Given the description of an element on the screen output the (x, y) to click on. 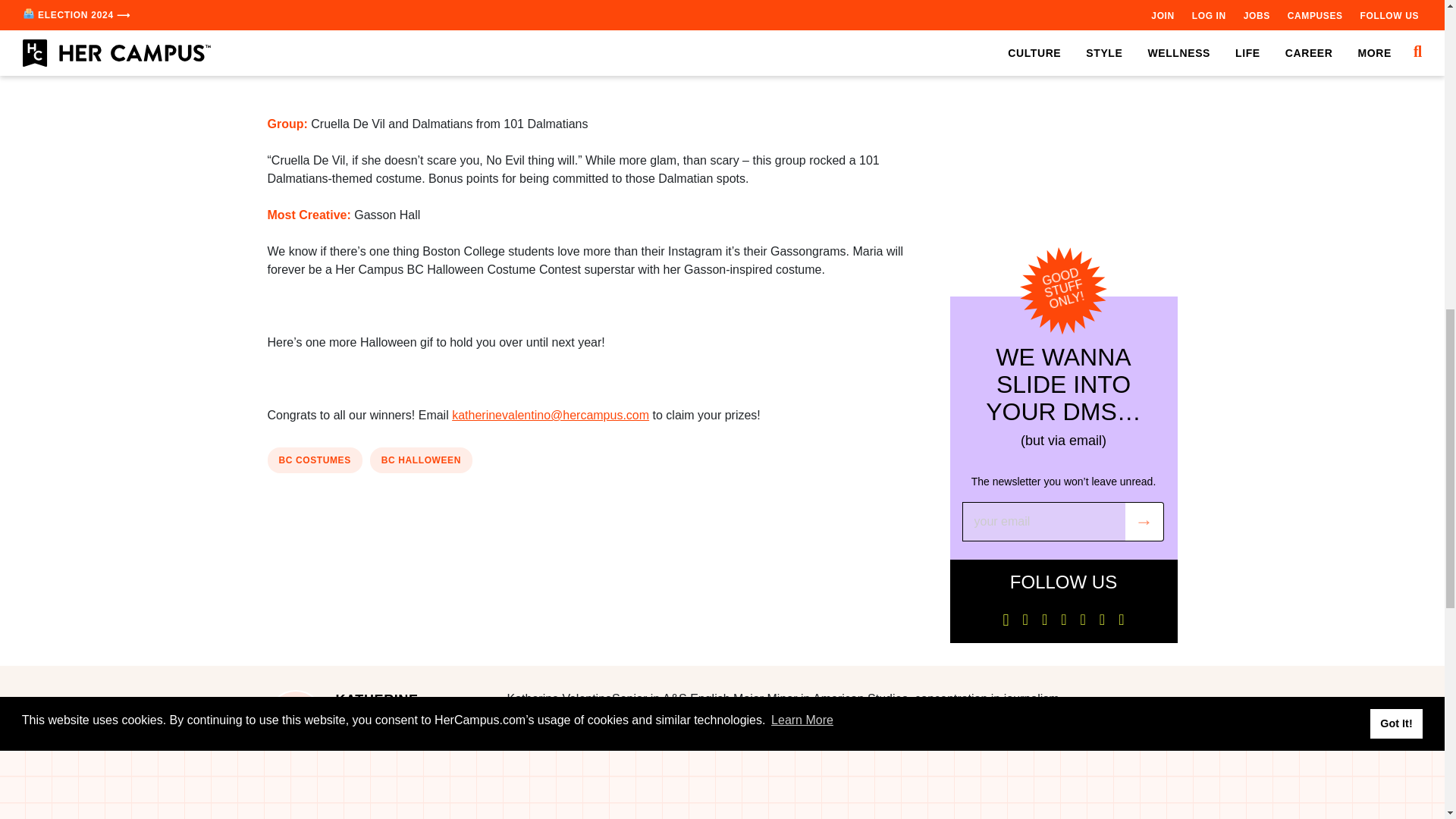
3rd party ad content (597, 62)
3rd party ad content (597, 528)
3rd party ad content (1062, 106)
